Given the description of an element on the screen output the (x, y) to click on. 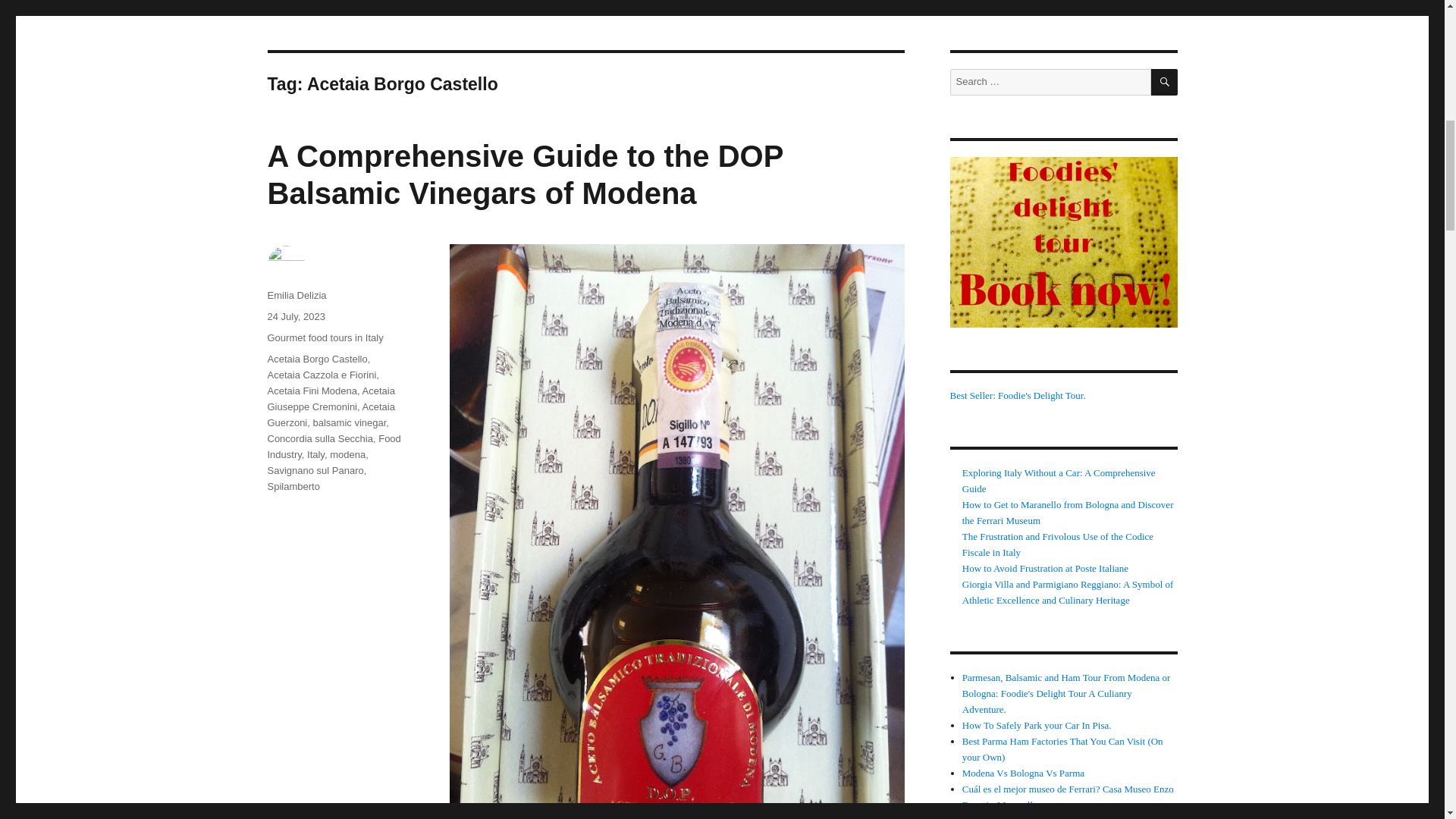
A Comprehensive Guide to the DOP Balsamic Vinegars of Modena (524, 174)
